Given the description of an element on the screen output the (x, y) to click on. 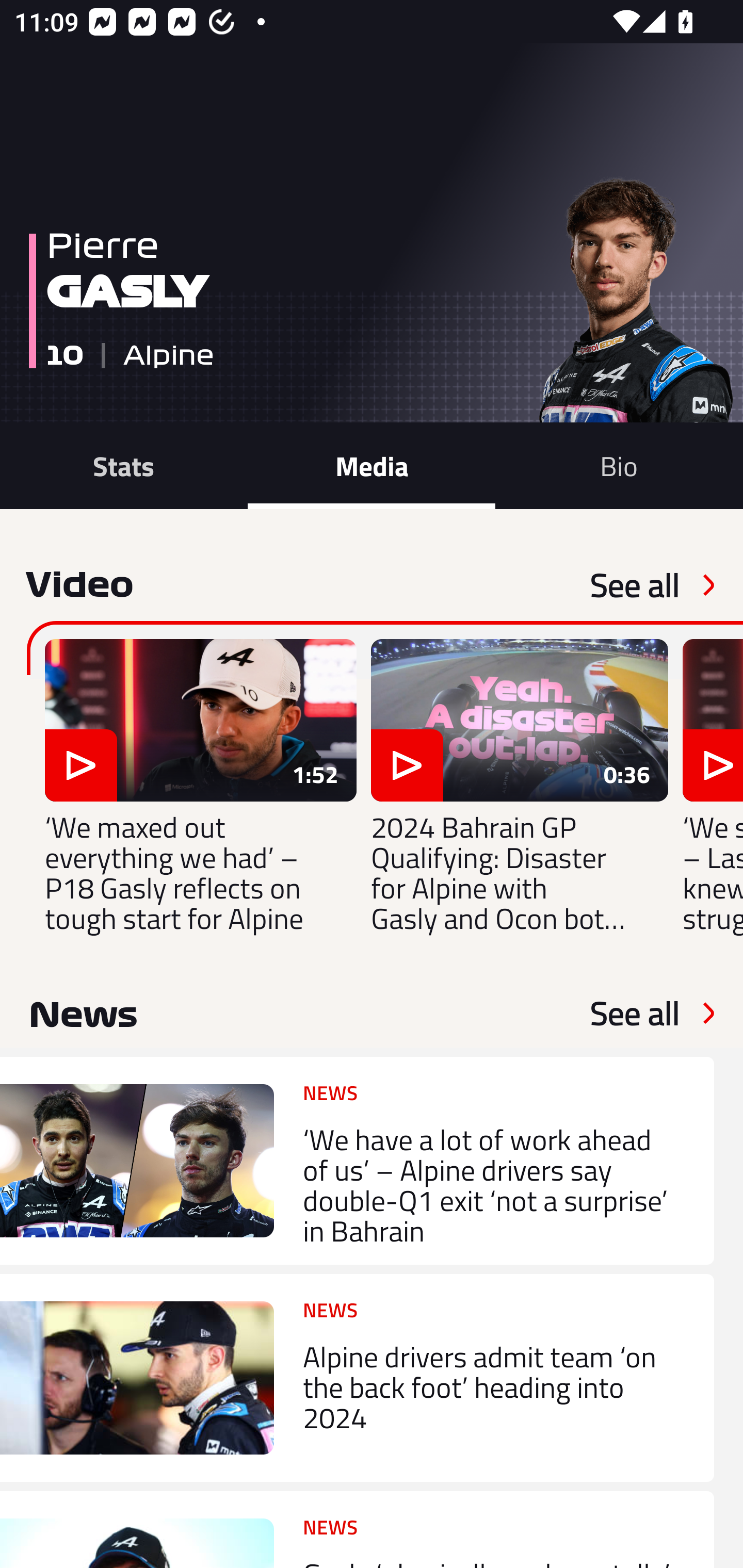
Stats (123, 465)
Bio (619, 465)
See all (634, 584)
See all (634, 1012)
